Given the description of an element on the screen output the (x, y) to click on. 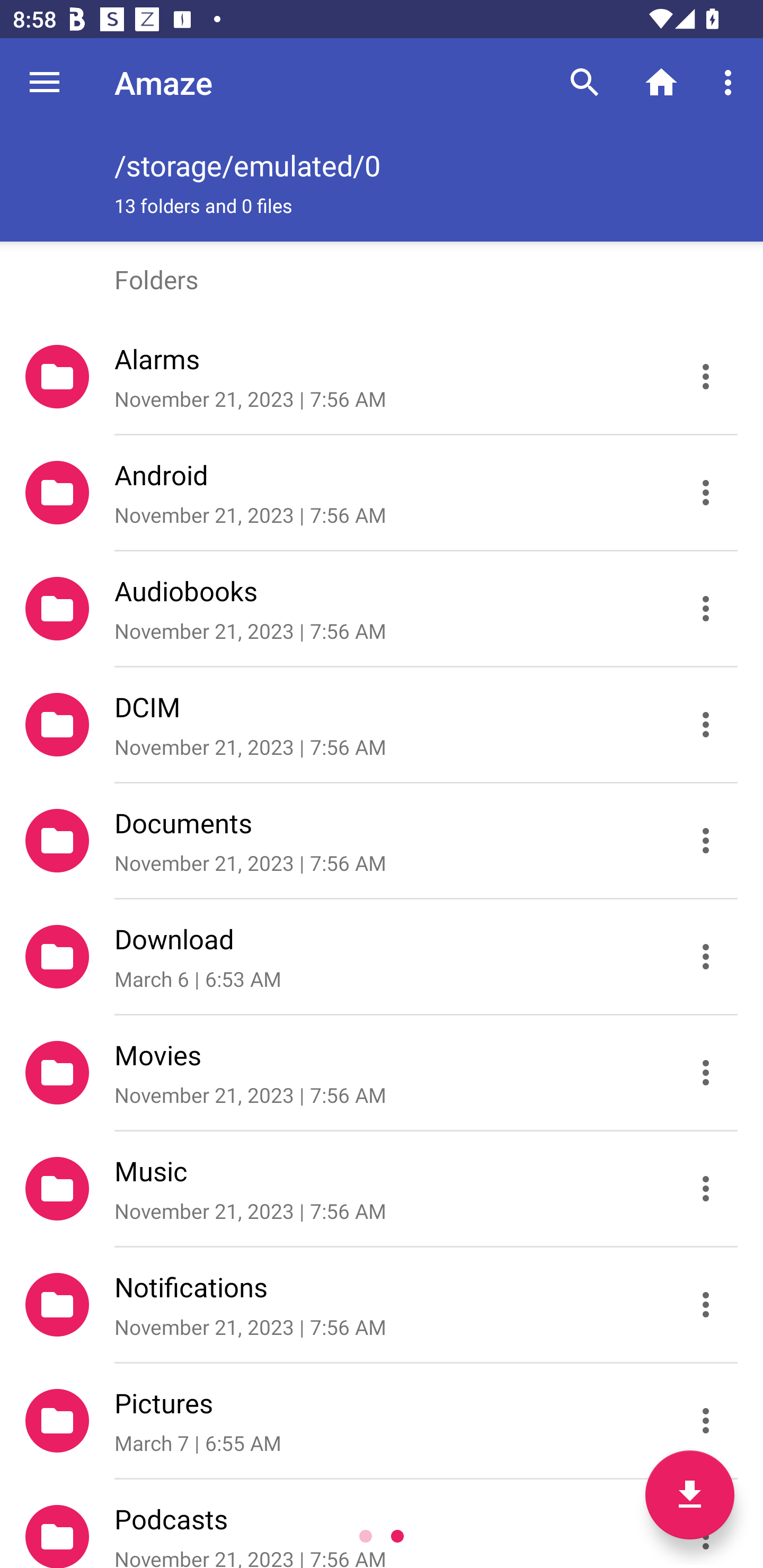
Navigate up (44, 82)
Search (585, 81)
Home (661, 81)
More options (731, 81)
Alarms November 21, 2023 | 7:56 AM (381, 376)
Android November 21, 2023 | 7:56 AM (381, 492)
Audiobooks November 21, 2023 | 7:56 AM (381, 608)
DCIM November 21, 2023 | 7:56 AM (381, 724)
Documents November 21, 2023 | 7:56 AM (381, 841)
Download March 6 | 6:53 AM (381, 957)
Movies November 21, 2023 | 7:56 AM (381, 1073)
Music November 21, 2023 | 7:56 AM (381, 1189)
Notifications November 21, 2023 | 7:56 AM (381, 1305)
Pictures March 7 | 6:55 AM (381, 1421)
Podcasts November 21, 2023 | 7:56 AM (381, 1524)
